Given the description of an element on the screen output the (x, y) to click on. 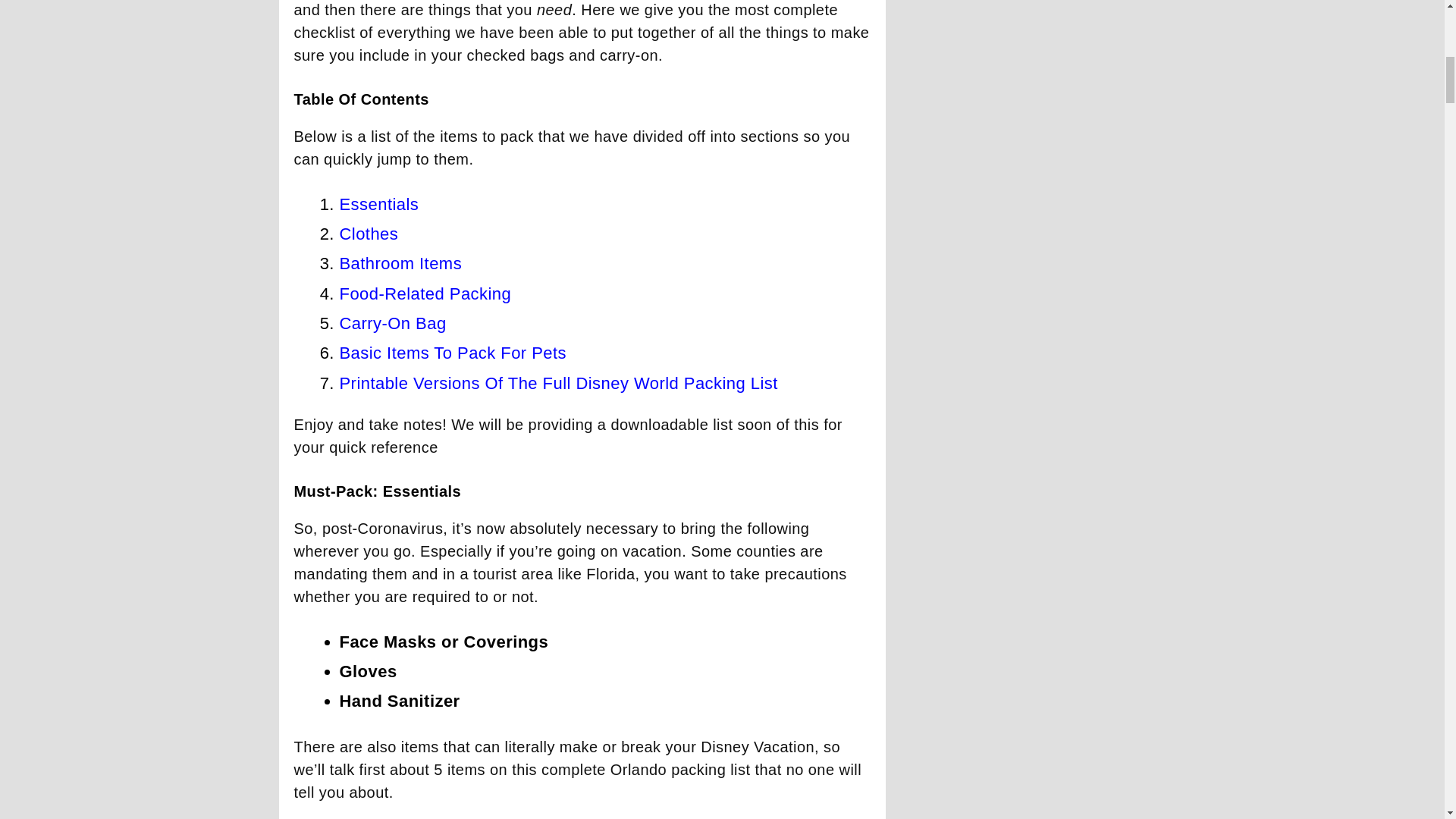
Essentials (379, 203)
Bathroom Items (401, 262)
Clothes (368, 233)
Printable Versions Of The Full Disney World Packing List (558, 383)
Food-Related Packing (425, 293)
Carry-On Bag (392, 322)
Basic Items To Pack For Pets (453, 352)
